Given the description of an element on the screen output the (x, y) to click on. 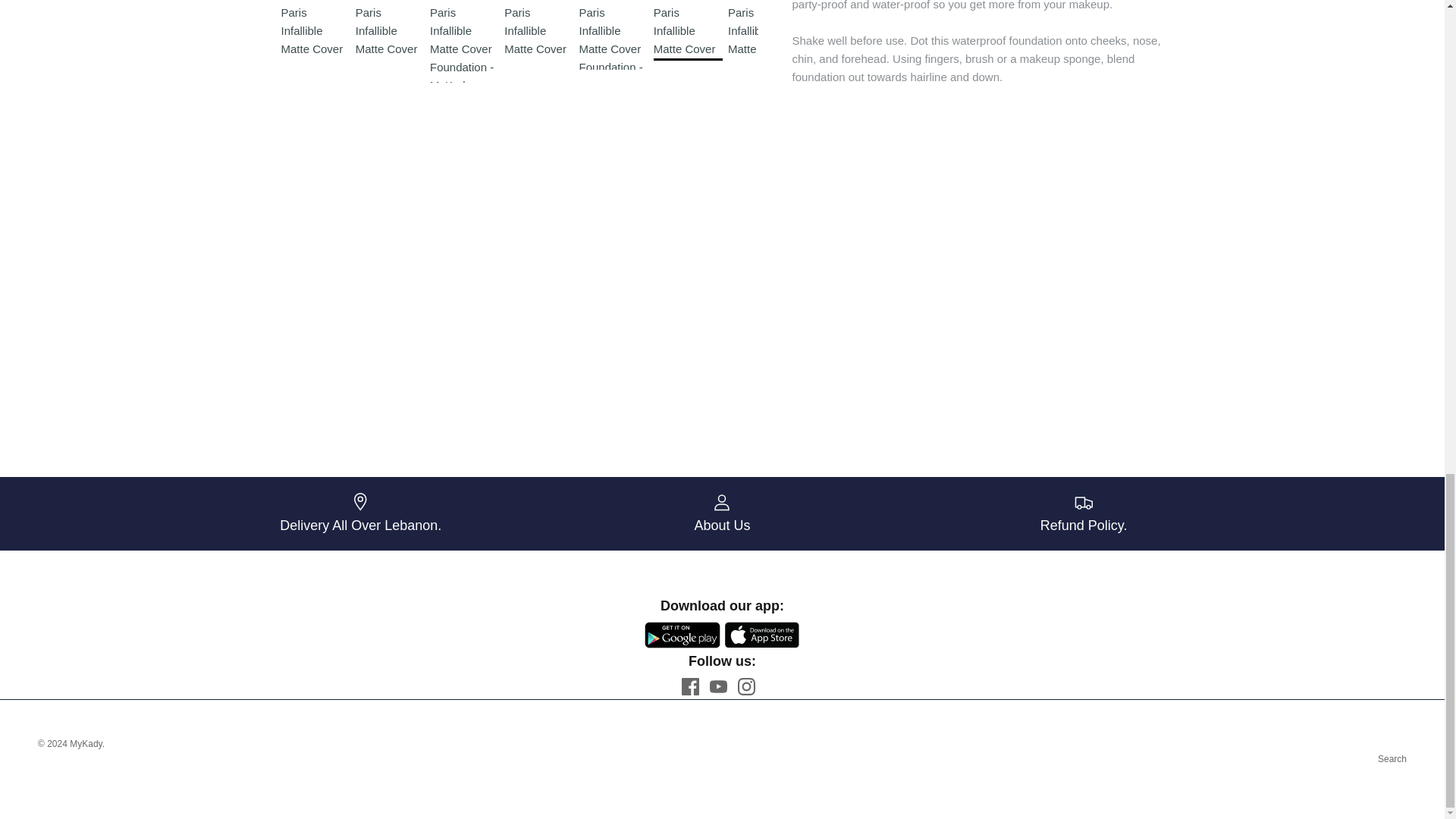
Facebook (689, 686)
Instagram (746, 686)
Youtube (718, 686)
